Given the description of an element on the screen output the (x, y) to click on. 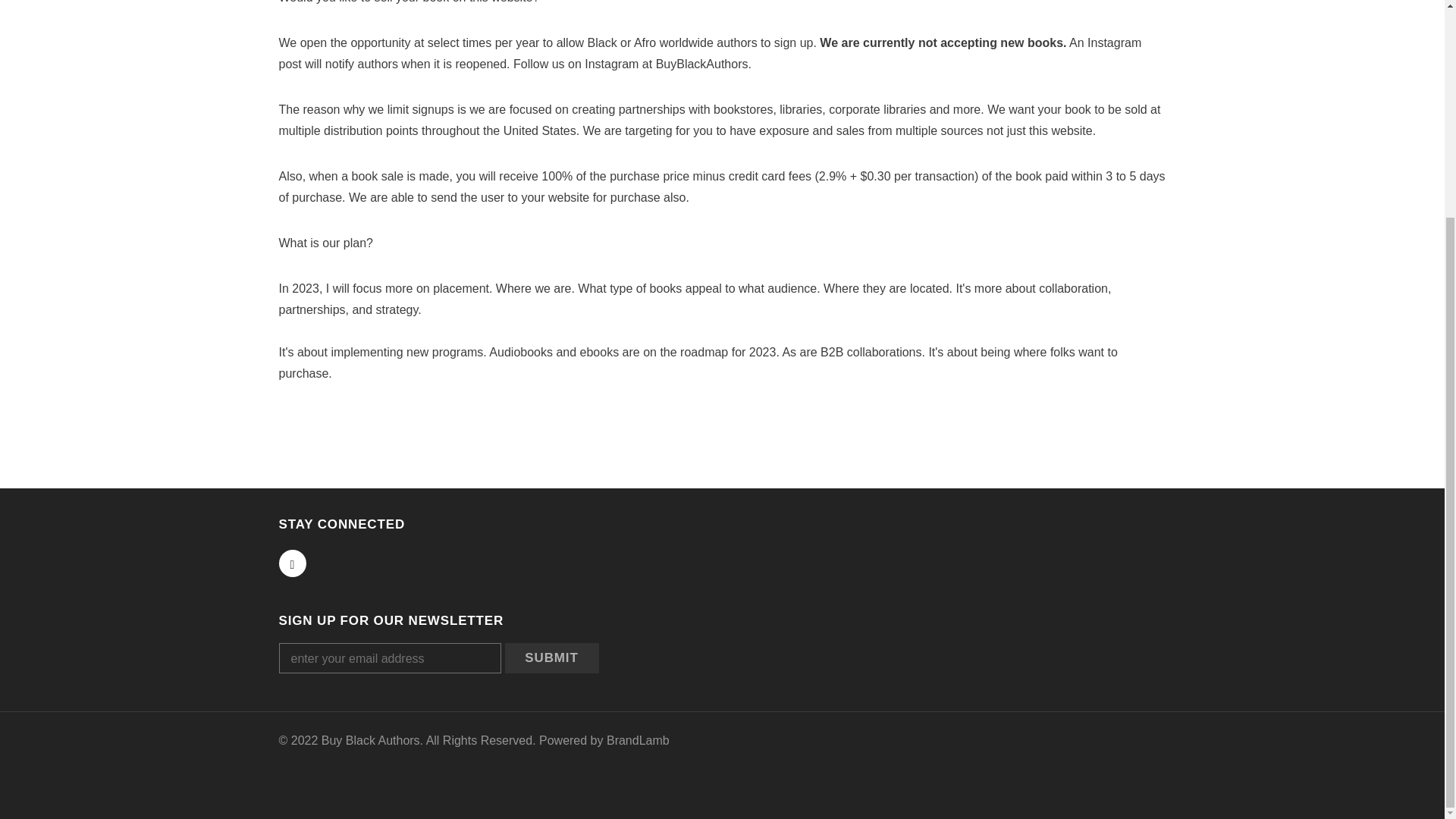
Submit (551, 657)
Instagram (292, 563)
Submit (551, 657)
